Given the description of an element on the screen output the (x, y) to click on. 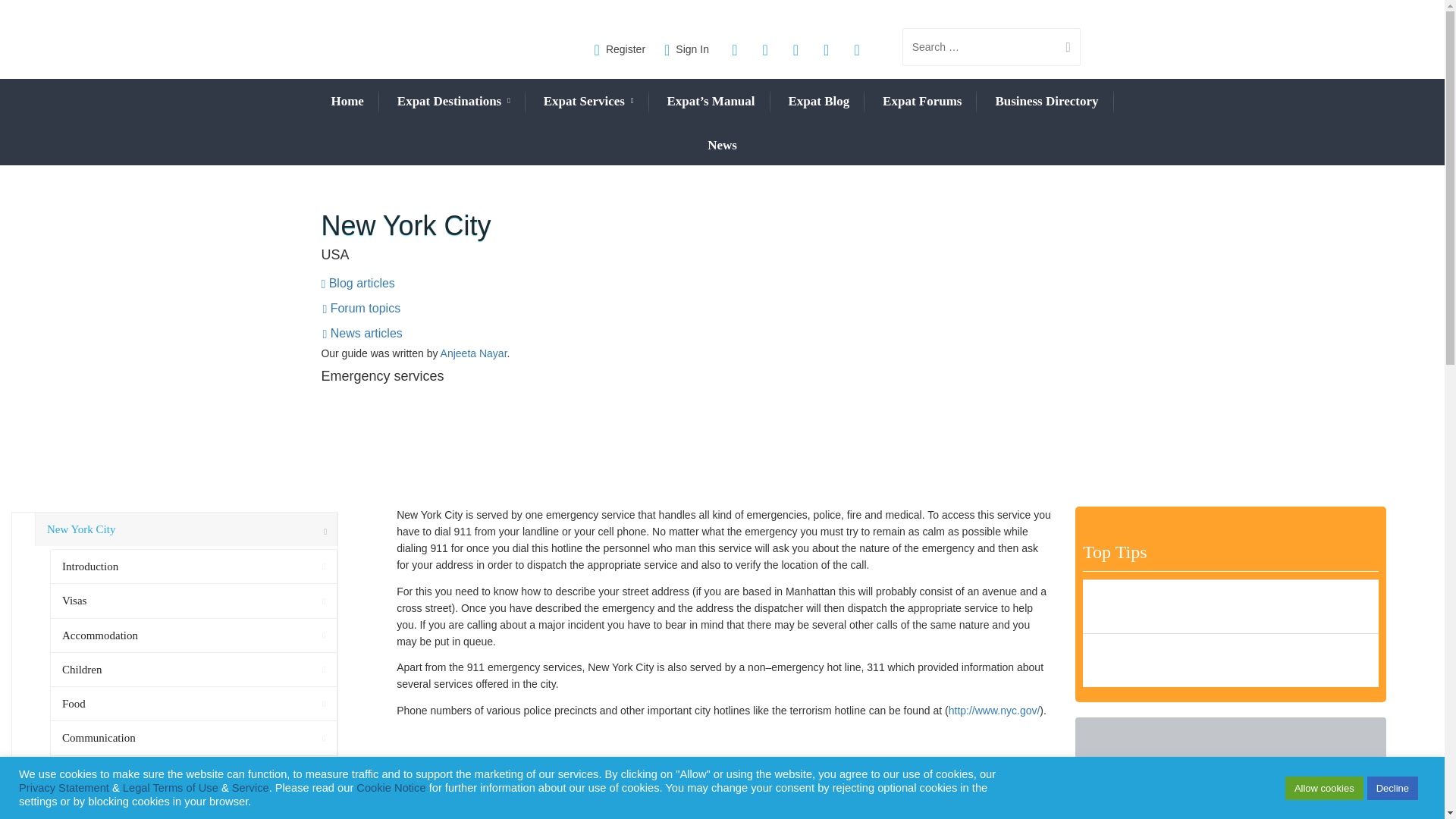
Expat Destinations (454, 101)
Register (620, 47)
Search (1061, 46)
Search (1061, 46)
Sign In (686, 47)
Home (346, 100)
Search (1061, 46)
